Given the description of an element on the screen output the (x, y) to click on. 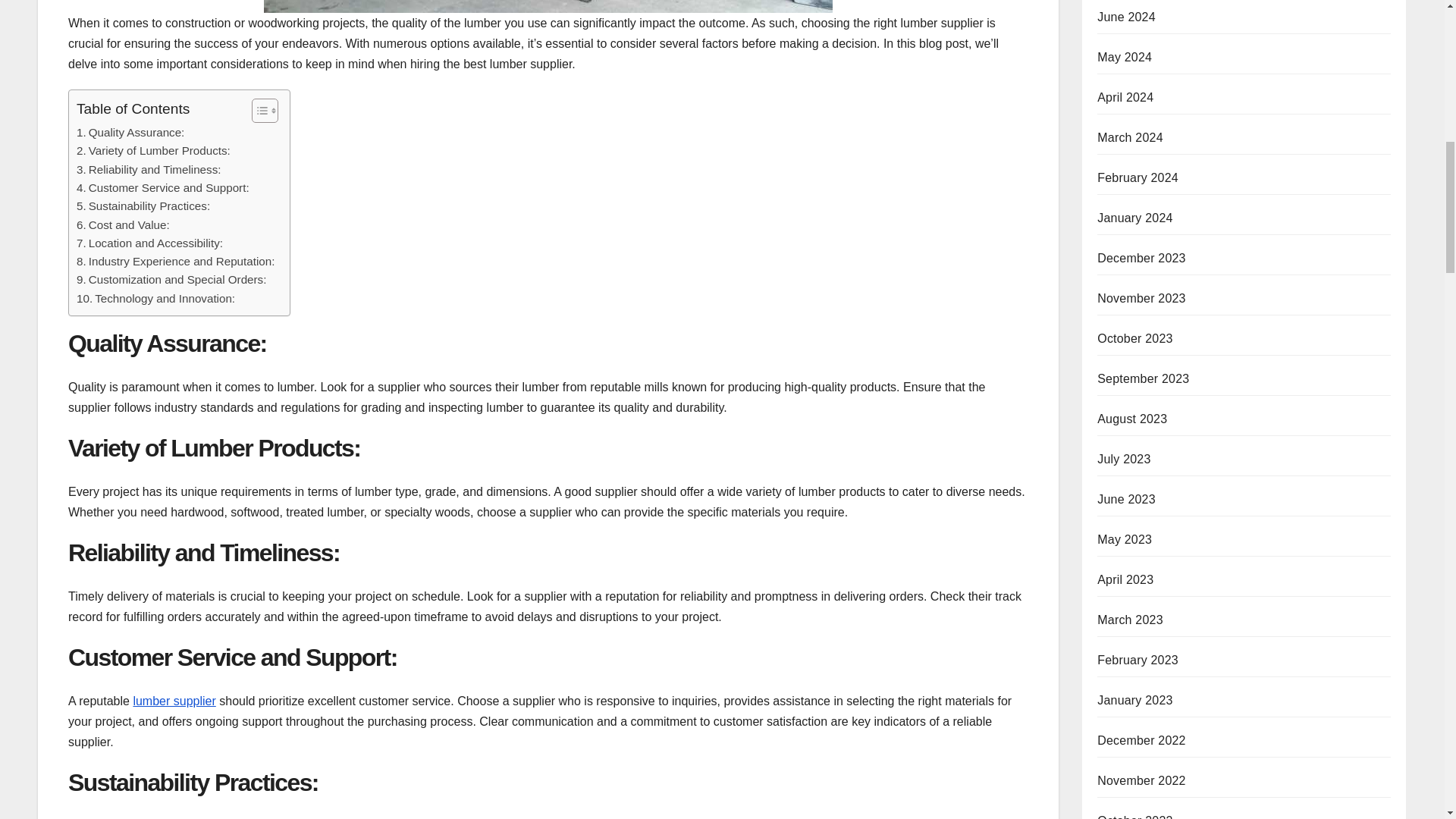
Customization and Special Orders: (171, 280)
Cost and Value: (123, 225)
Reliability and Timeliness: (149, 169)
Variety of Lumber Products: (153, 150)
Quality Assurance: (130, 132)
Technology and Innovation: (155, 298)
Customer Service and Support: (162, 188)
Industry Experience and Reputation: (176, 261)
Location and Accessibility: (149, 243)
Sustainability Practices: (143, 206)
